Given the description of an element on the screen output the (x, y) to click on. 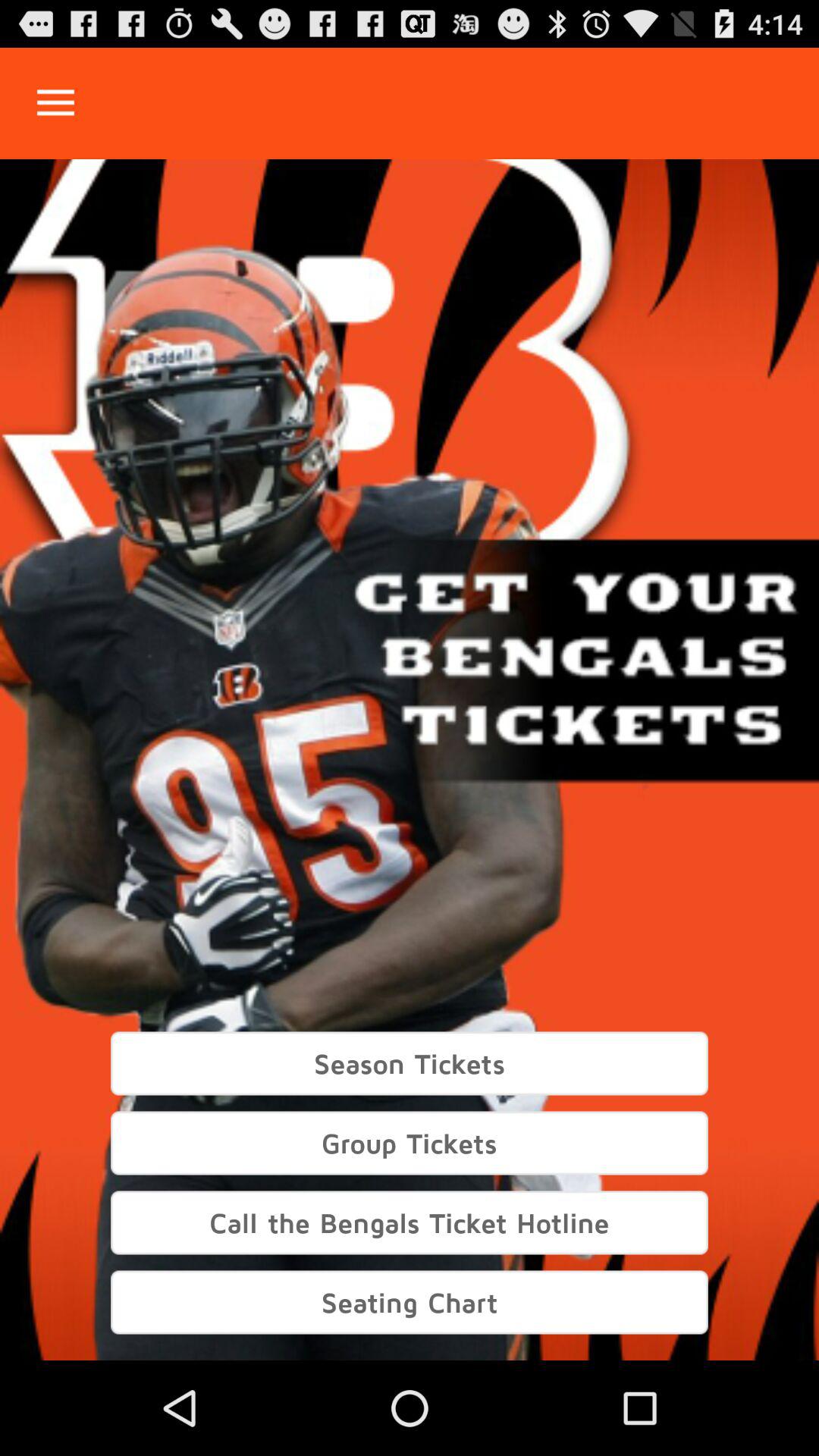
open drop down menu (55, 103)
